Given the description of an element on the screen output the (x, y) to click on. 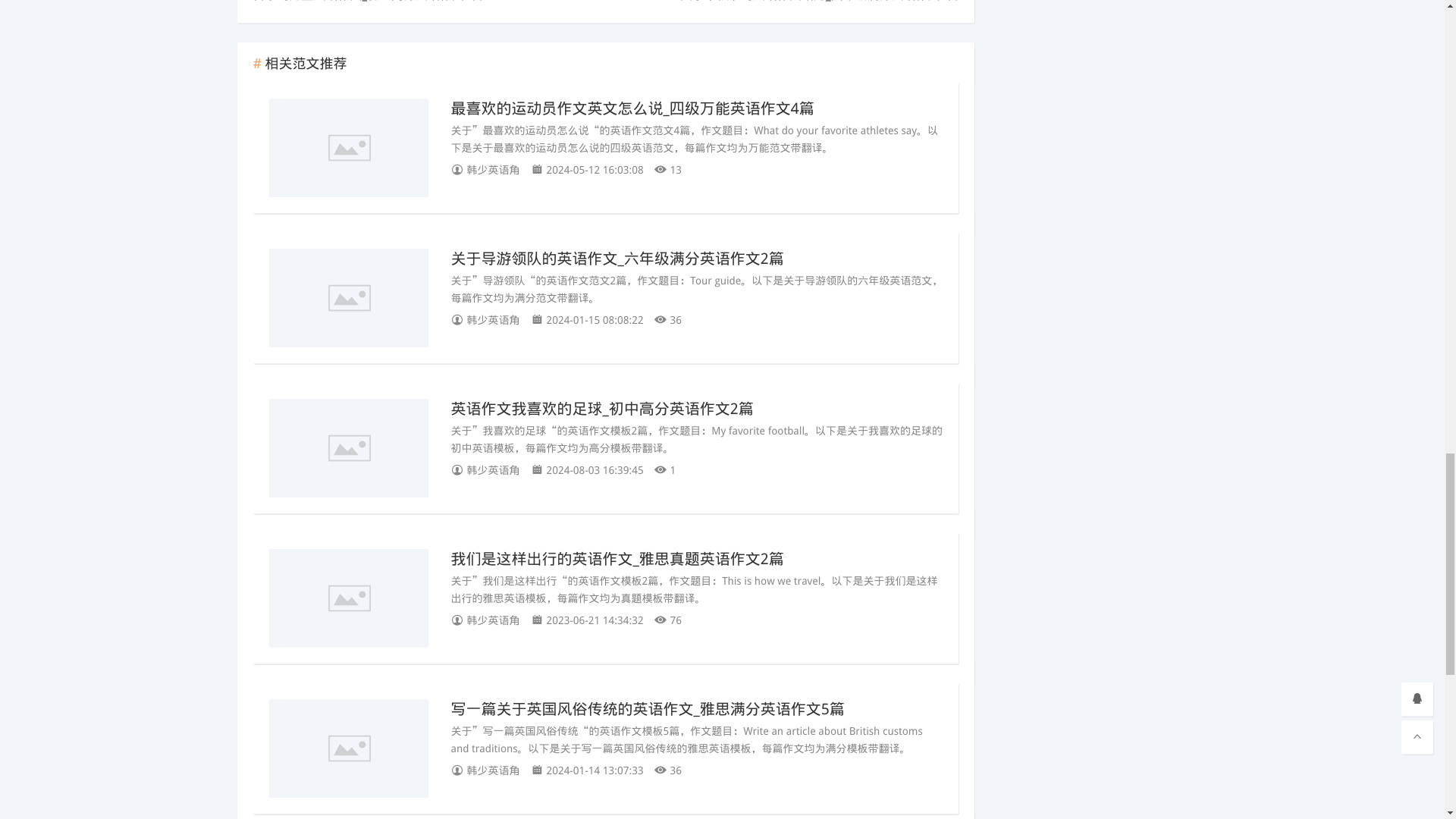
2023-06-21 14:34:32 (592, 619)
2024-08-03 16:39:45 (592, 469)
2024-05-12 16:03:08 (592, 169)
2024-01-15 08:08:22 (592, 319)
